Given the description of an element on the screen output the (x, y) to click on. 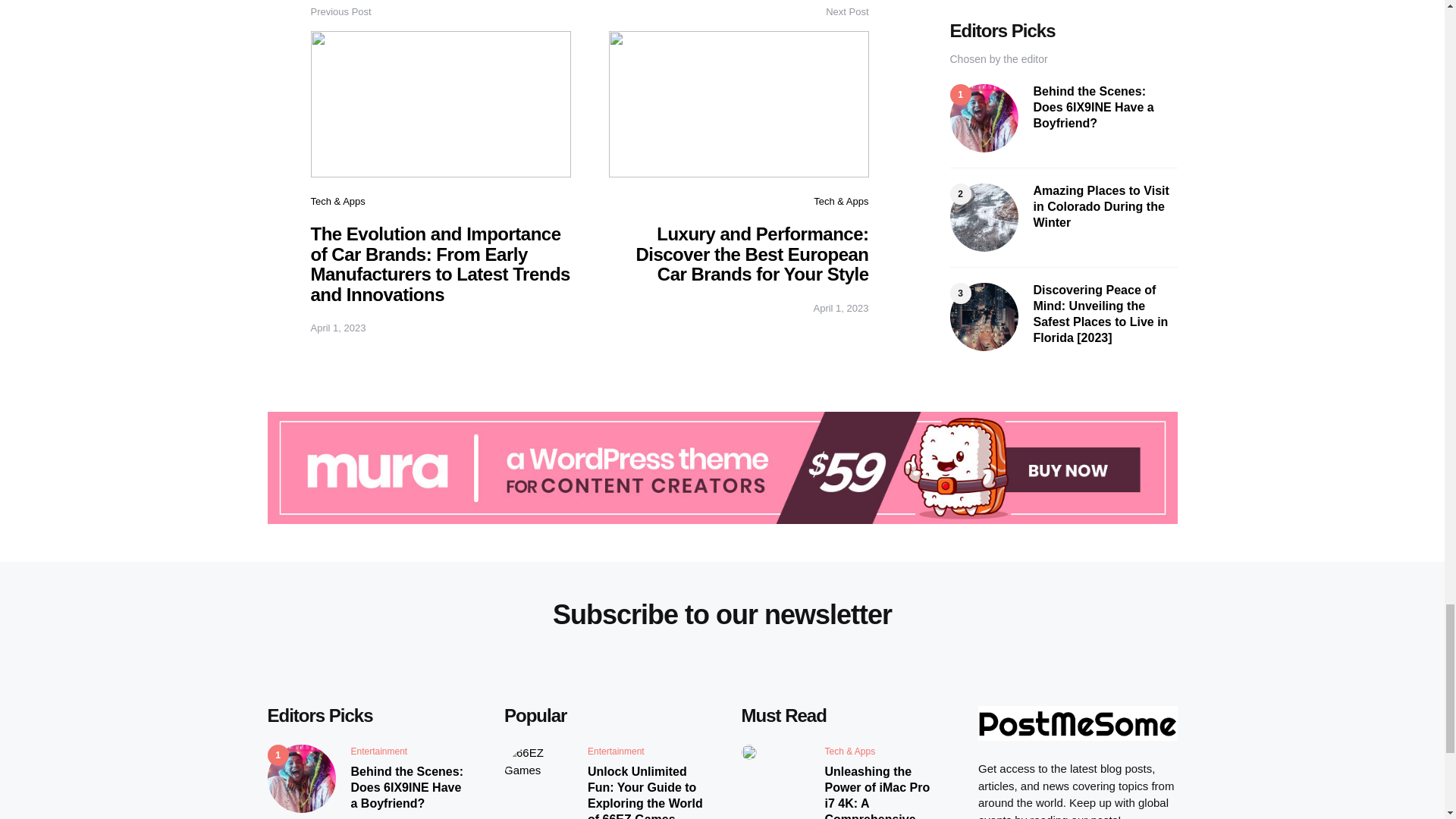
Behind the Scenes: Does 6IX9INE Have a Boyfriend? (407, 787)
Entertainment (378, 751)
